Given the description of an element on the screen output the (x, y) to click on. 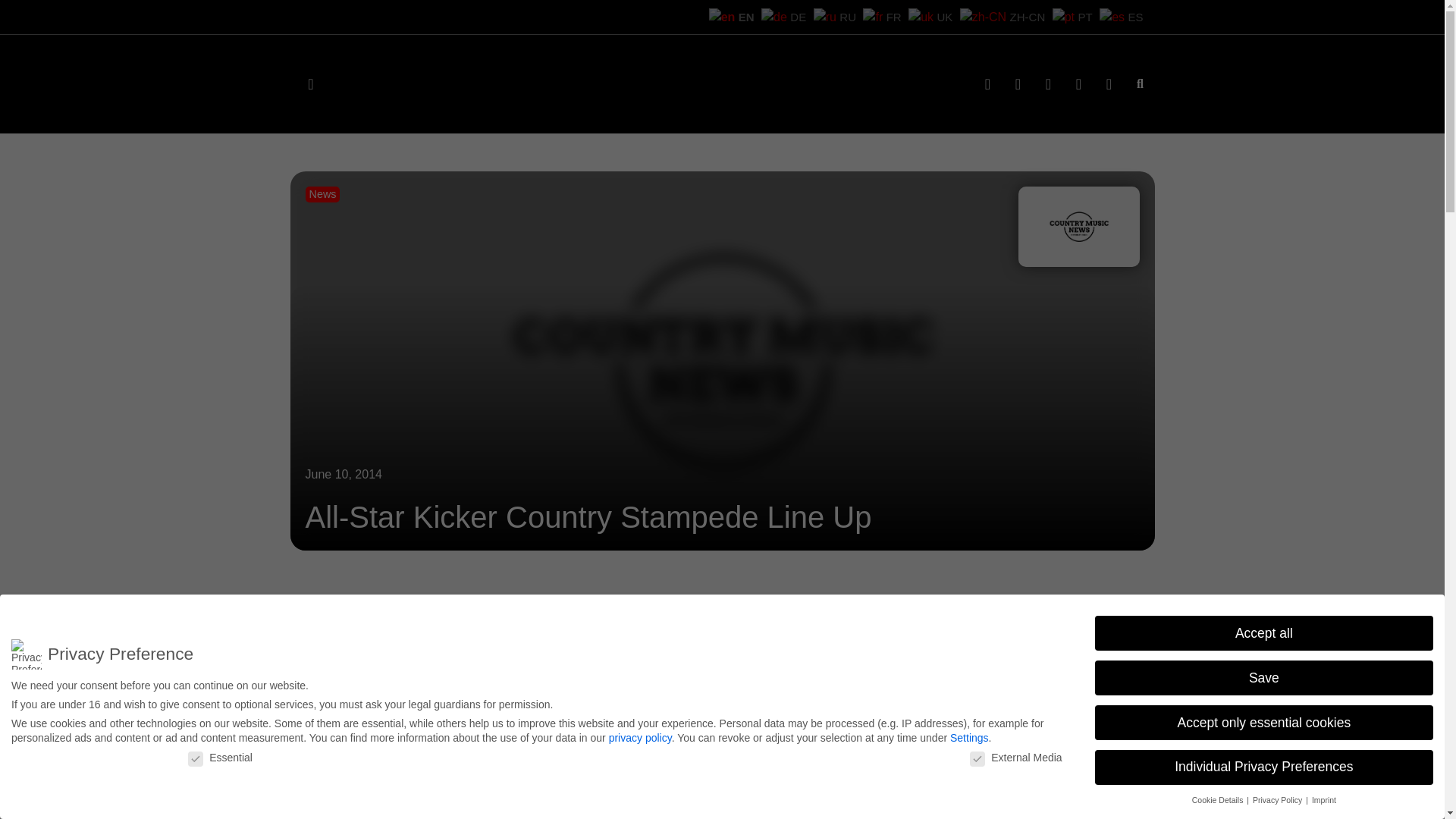
Cookie Details (1219, 799)
ES (1126, 15)
German (841, 15)
Accept all (1263, 632)
privacy policy (639, 733)
Privacy Policy (1278, 799)
ZH-CN (1028, 15)
French (930, 15)
English (796, 15)
Ukrainian (975, 15)
Portuguese (1082, 15)
RU (885, 15)
DE (841, 15)
Save (1263, 677)
News (322, 193)
